Given the description of an element on the screen output the (x, y) to click on. 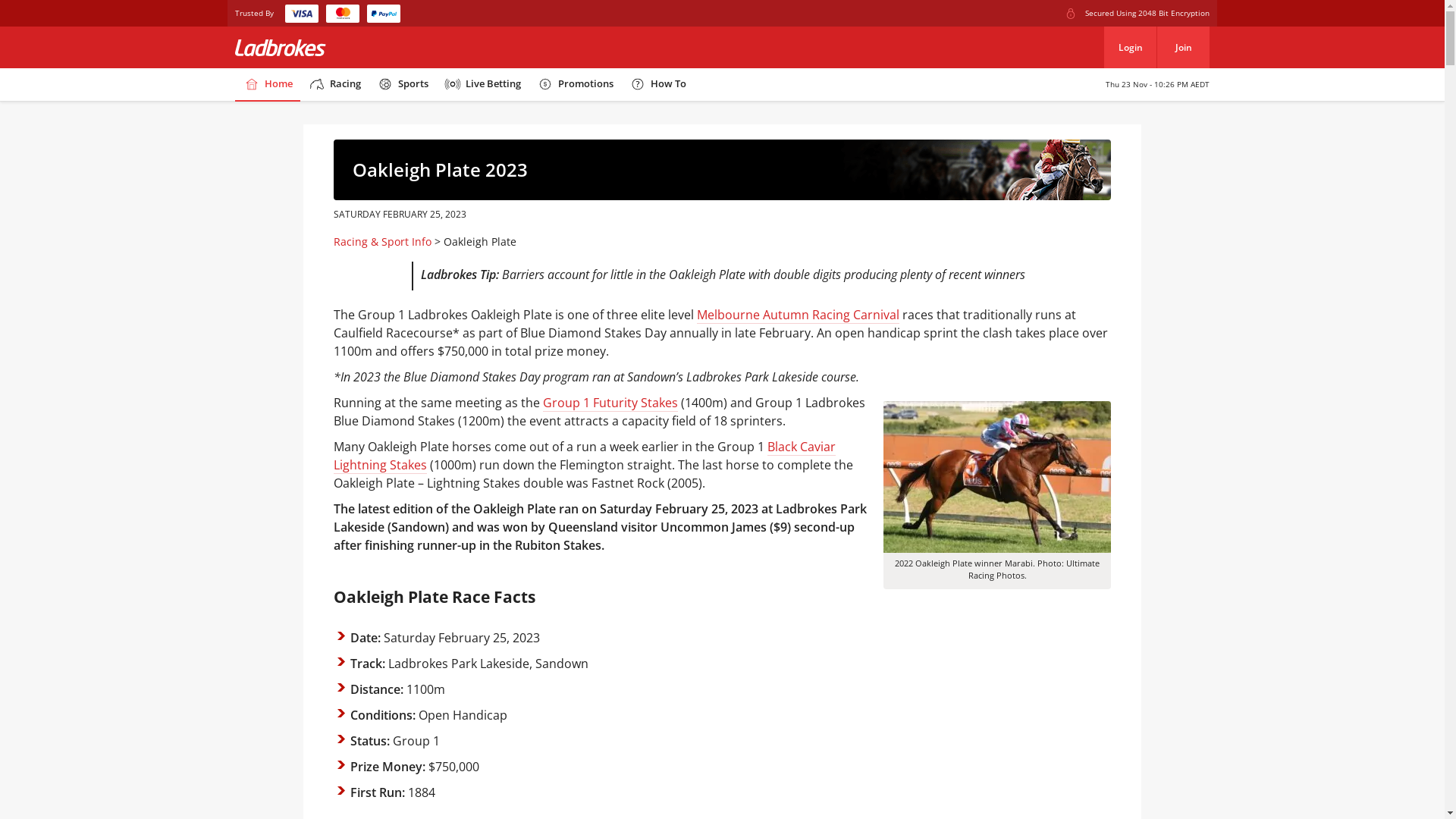
Sports Element type: text (402, 84)
Racing & Sport Info Element type: text (382, 241)
Home Element type: text (267, 84)
How To Element type: text (657, 84)
Melbourne Autumn Racing Carnival Element type: text (797, 314)
Group 1 Futurity Stakes Element type: text (609, 402)
Login Element type: text (1129, 47)
Join Element type: text (1182, 47)
Black Caviar Lightning Stakes Element type: text (584, 455)
Live Betting Element type: text (482, 84)
Racing Element type: text (334, 84)
Promotions Element type: text (574, 84)
